Given the description of an element on the screen output the (x, y) to click on. 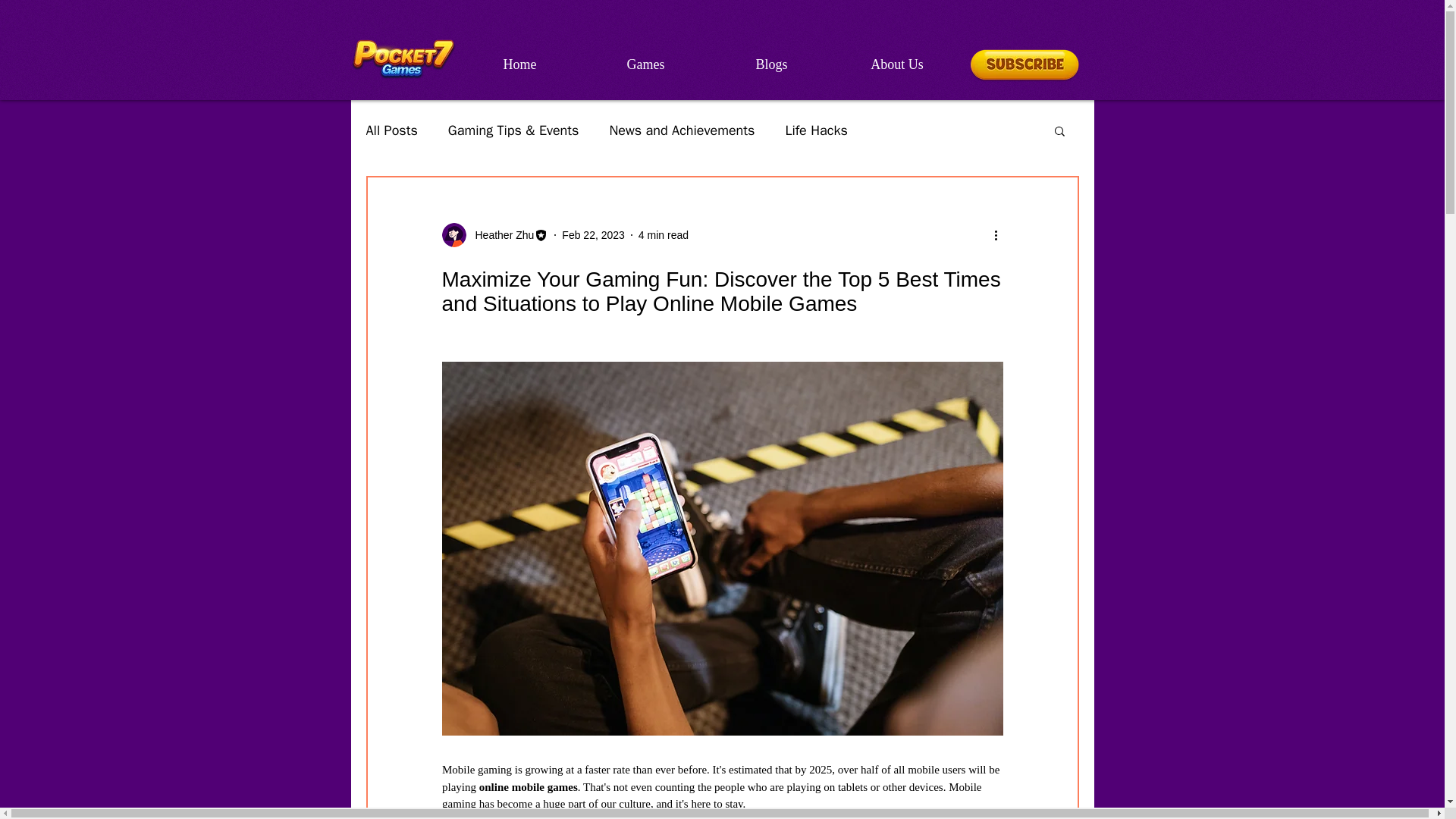
About Us (896, 63)
506 P7 Subscribe yellow.webp (1024, 63)
Blogs (770, 63)
Home (519, 63)
Games (644, 63)
Life Hacks (815, 130)
4 min read (663, 234)
Feb 22, 2023 (593, 234)
Heather Zhu (499, 235)
News and Achievements (681, 130)
All Posts (390, 130)
